Given the description of an element on the screen output the (x, y) to click on. 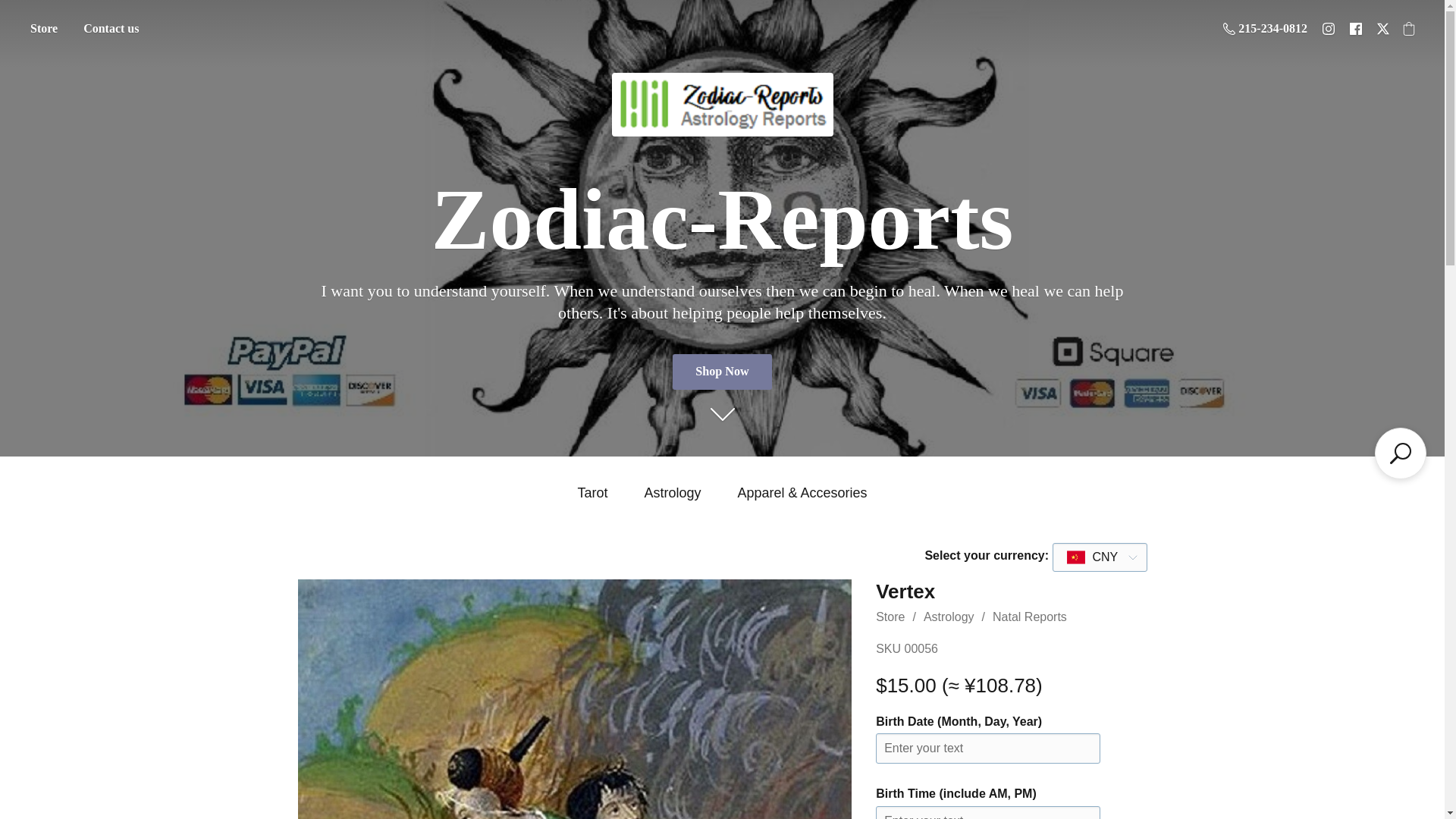
Store (43, 29)
Vertex (574, 699)
Tarot (591, 492)
215-234-0812 (1264, 28)
CNY (1092, 557)
Store (890, 616)
Shop Now (721, 371)
Astrology (671, 492)
Astrology (948, 616)
Natal Reports (1029, 616)
Contact us (110, 29)
